Given the description of an element on the screen output the (x, y) to click on. 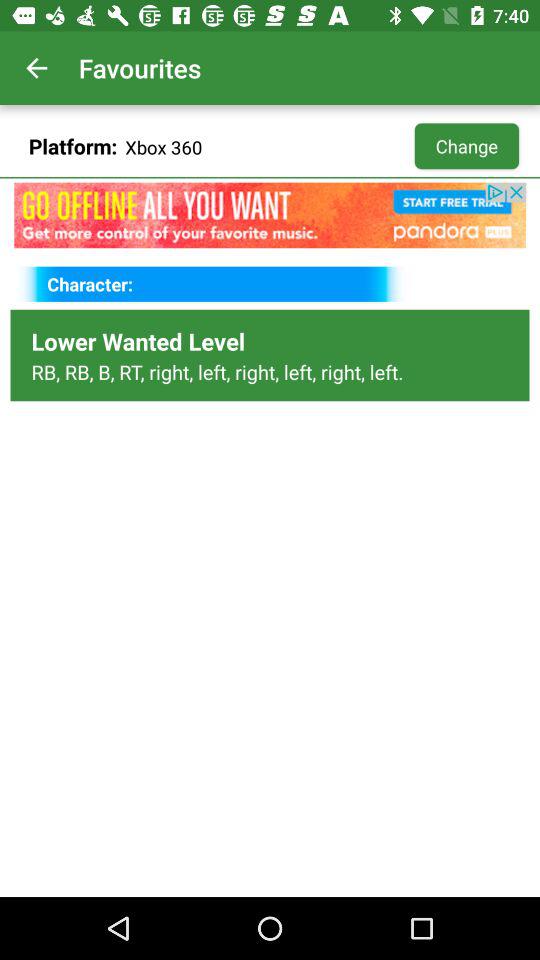
go to music (270, 215)
